Given the description of an element on the screen output the (x, y) to click on. 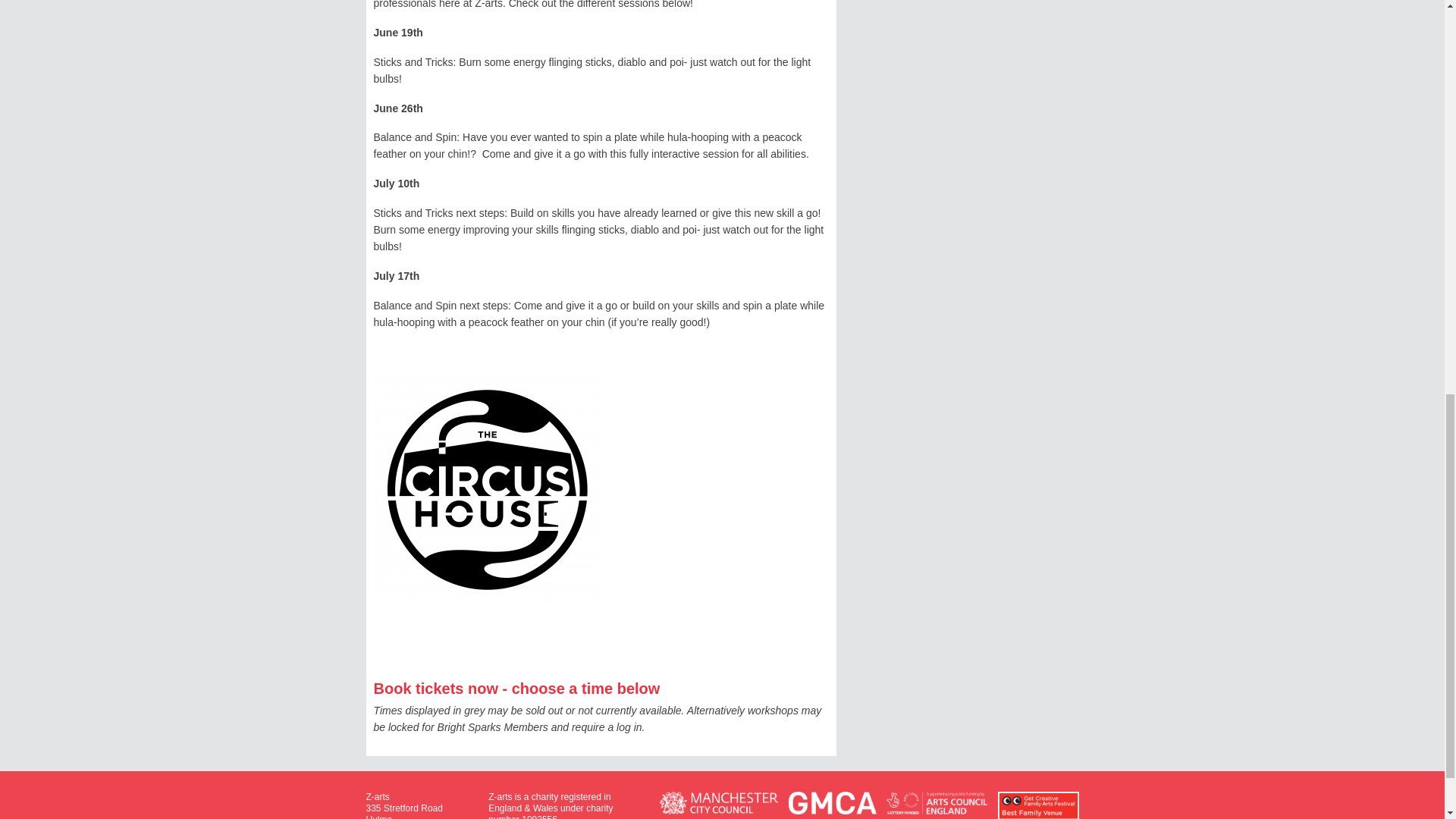
1093556 (539, 816)
